Given the description of an element on the screen output the (x, y) to click on. 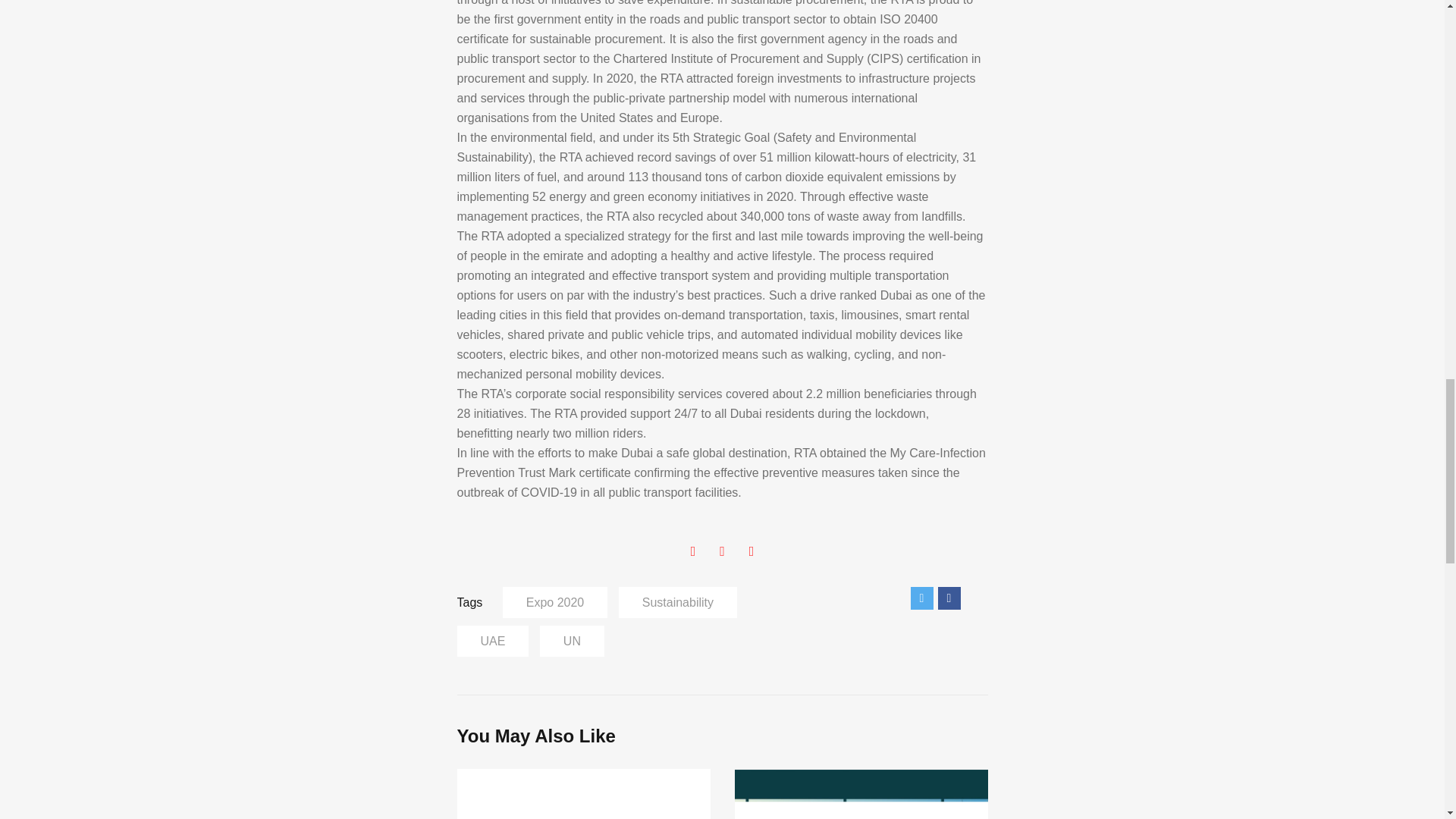
Share on Facebook (948, 598)
Share on Reddit (975, 598)
Share on Twitter (921, 598)
